Given the description of an element on the screen output the (x, y) to click on. 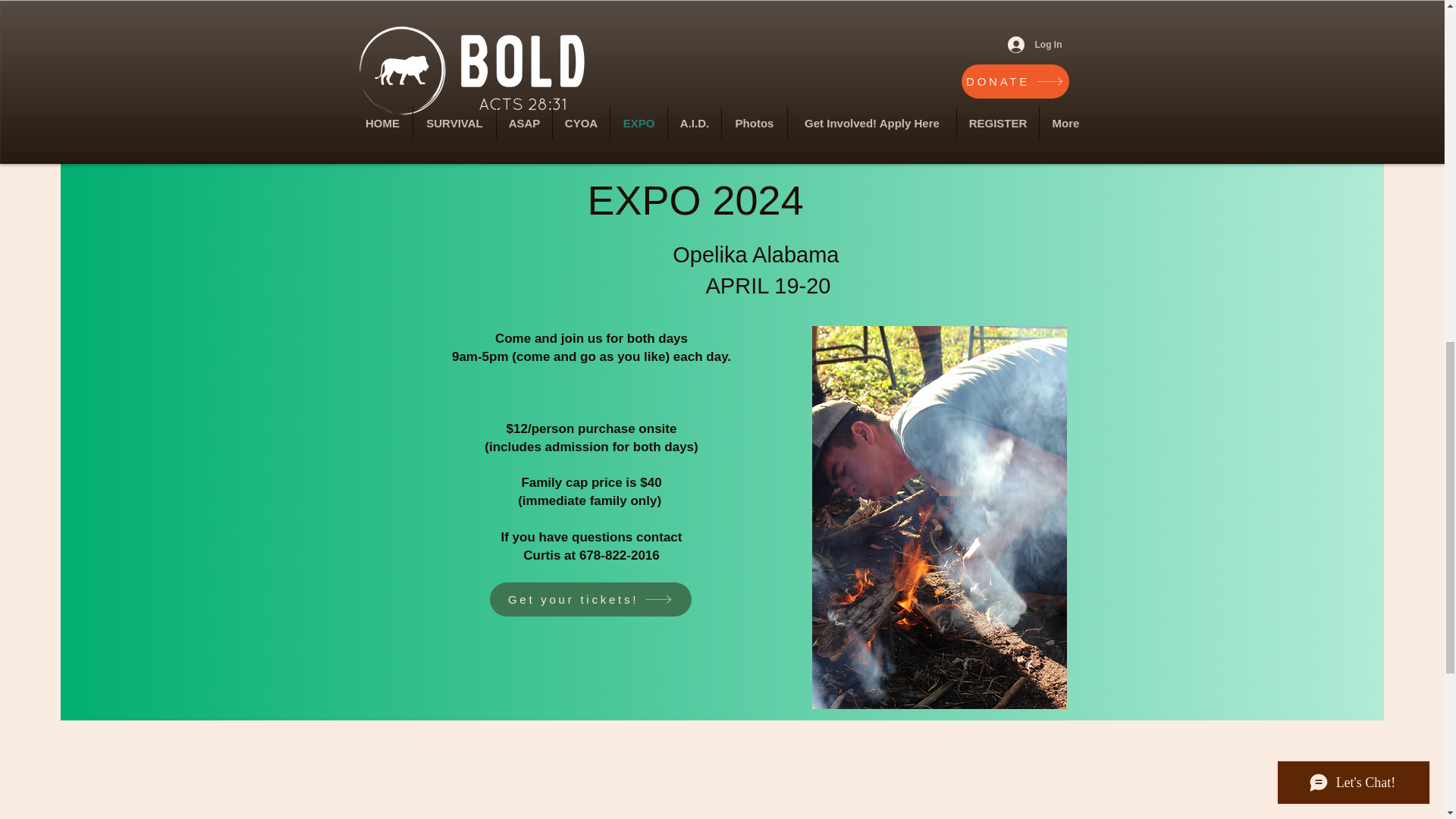
Get your tickets! (590, 599)
